Given the description of an element on the screen output the (x, y) to click on. 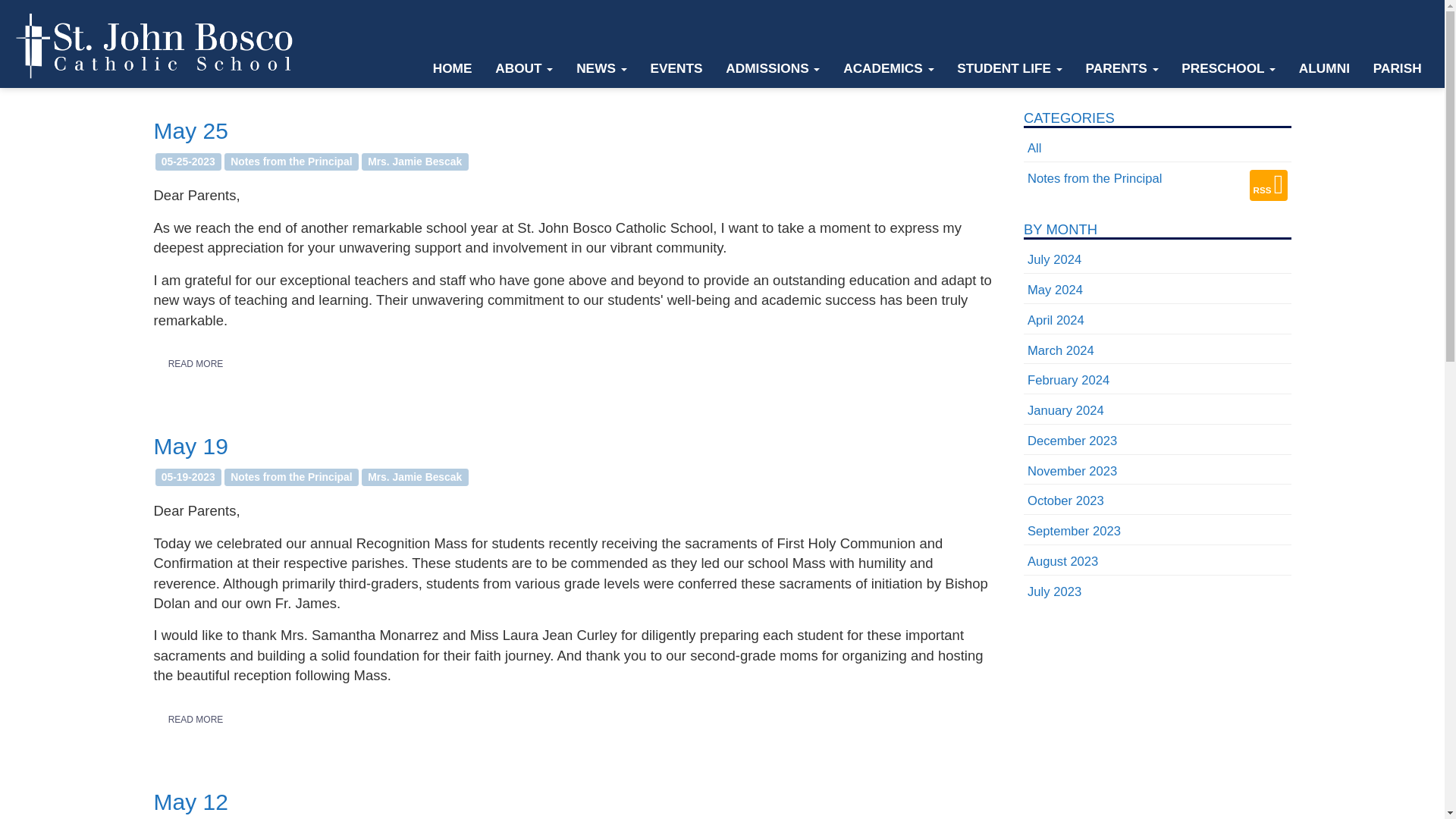
EVENTS (676, 68)
HOME (451, 68)
ADMISSIONS (772, 68)
NEWS (601, 68)
ABOUT (523, 68)
ACADEMICS (887, 68)
